Given the description of an element on the screen output the (x, y) to click on. 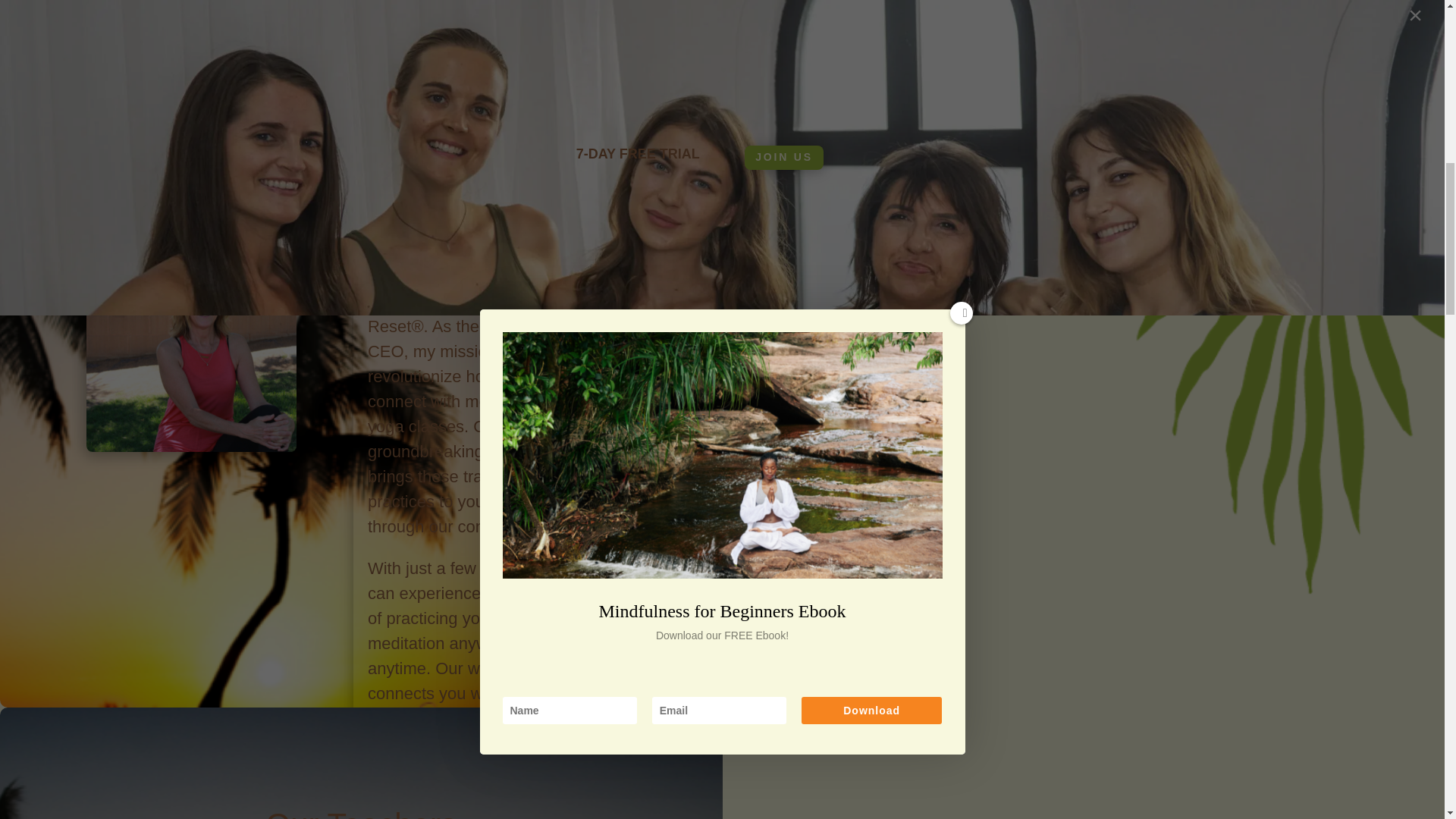
Profile pic C (190, 346)
